Given the description of an element on the screen output the (x, y) to click on. 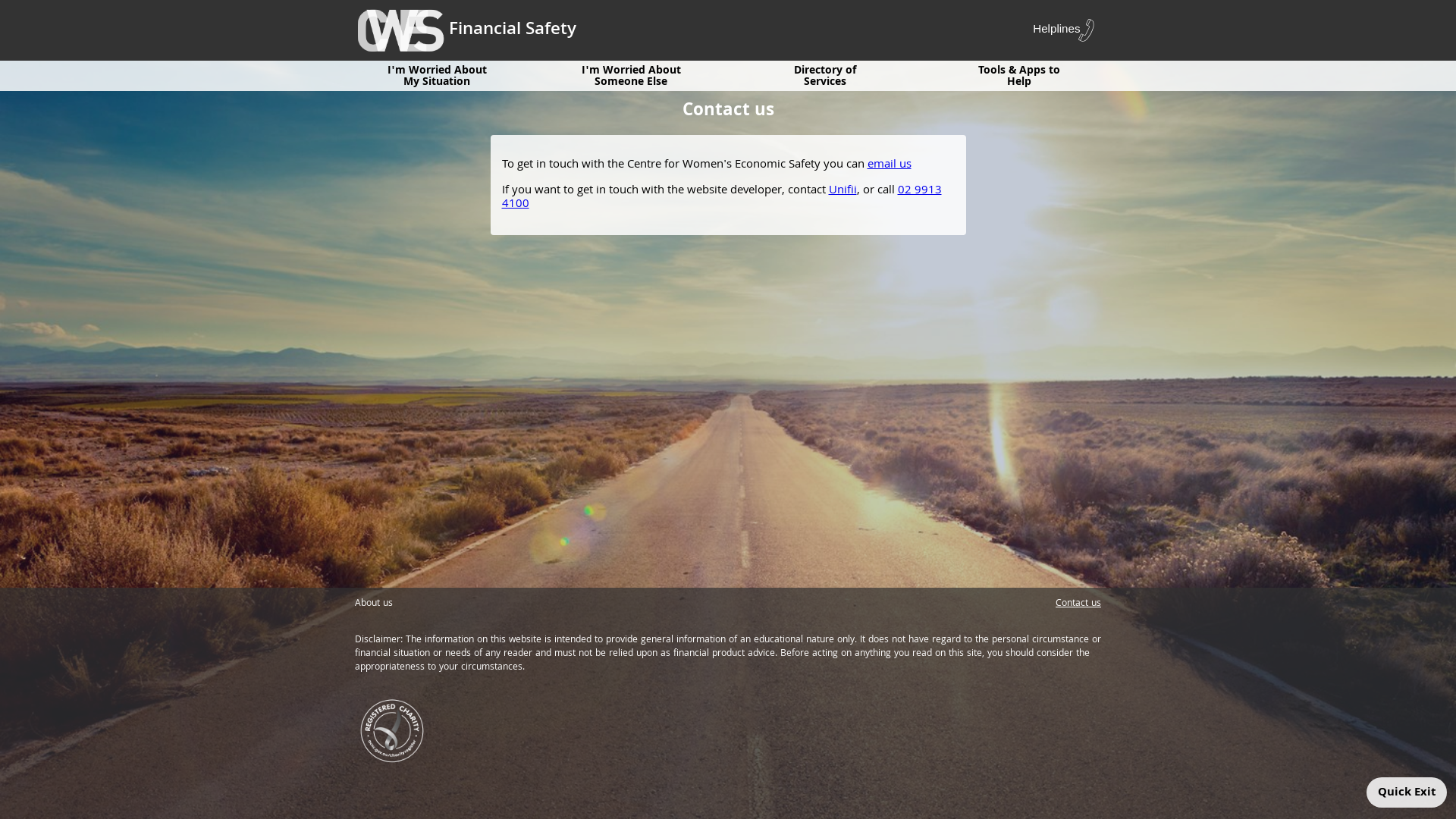
About us Element type: text (373, 603)
Financial Safety Element type: text (465, 30)
Unifii Element type: text (842, 190)
email us Element type: text (889, 164)
Directory of Services Element type: text (825, 74)
02 9913 4100 Element type: text (721, 196)
I'm Worried About My Situation Element type: text (436, 74)
Quick Exit Element type: text (1406, 792)
Contact us Element type: text (1078, 603)
I'm Worried About Someone Else Element type: text (630, 74)
Tools & Apps to Help Element type: text (1019, 74)
